Given the description of an element on the screen output the (x, y) to click on. 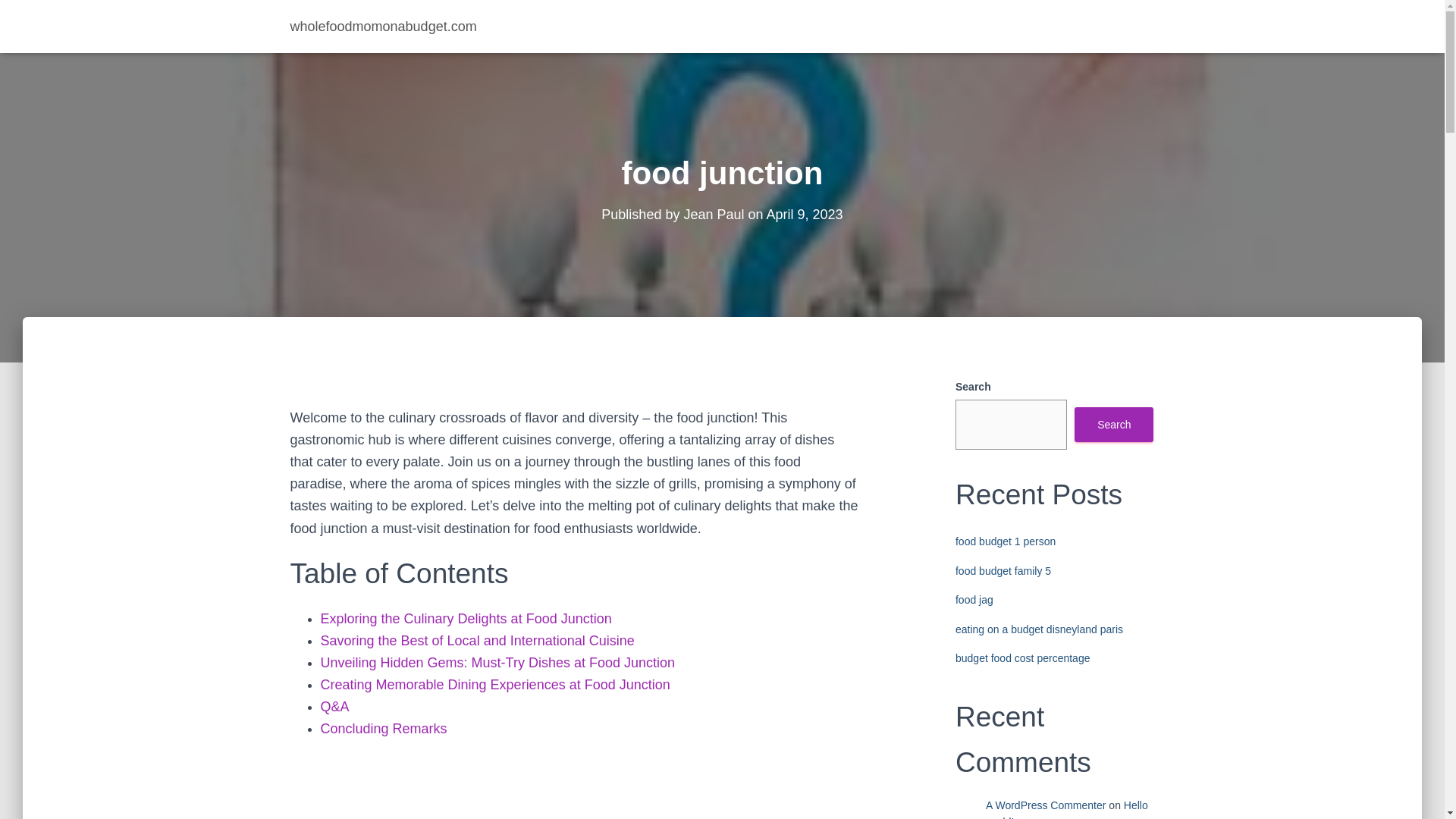
Exploring the Culinary Delights at Food Junction (465, 618)
food jag (973, 599)
budget food cost percentage (1022, 657)
Concluding Remarks (383, 728)
wholefoodmomonabudget.com (383, 26)
Hello world! (1066, 809)
eating on a budget disneyland paris (1038, 629)
Search (1113, 425)
food budget family 5 (1003, 571)
A WordPress Commenter (1045, 805)
food budget 1 person (1005, 541)
wholefoodmomonabudget.com (383, 26)
Jean Paul (713, 214)
